Given the description of an element on the screen output the (x, y) to click on. 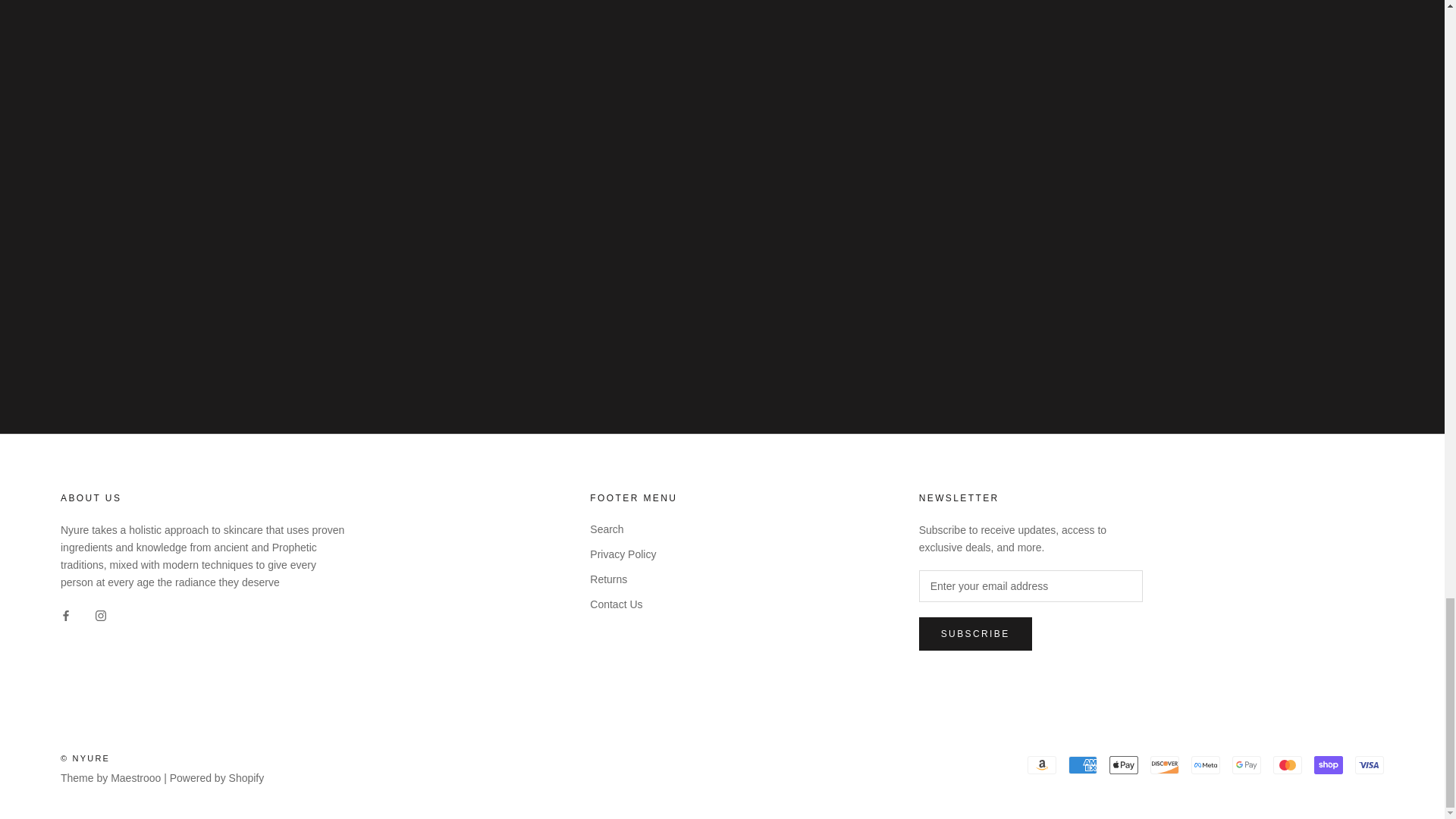
Shop Pay (1328, 764)
Amazon (1042, 764)
Apple Pay (1123, 764)
Google Pay (1245, 764)
Visa (1369, 764)
Meta Pay (1205, 764)
American Express (1082, 764)
Discover (1164, 764)
Mastercard (1286, 764)
